Given the description of an element on the screen output the (x, y) to click on. 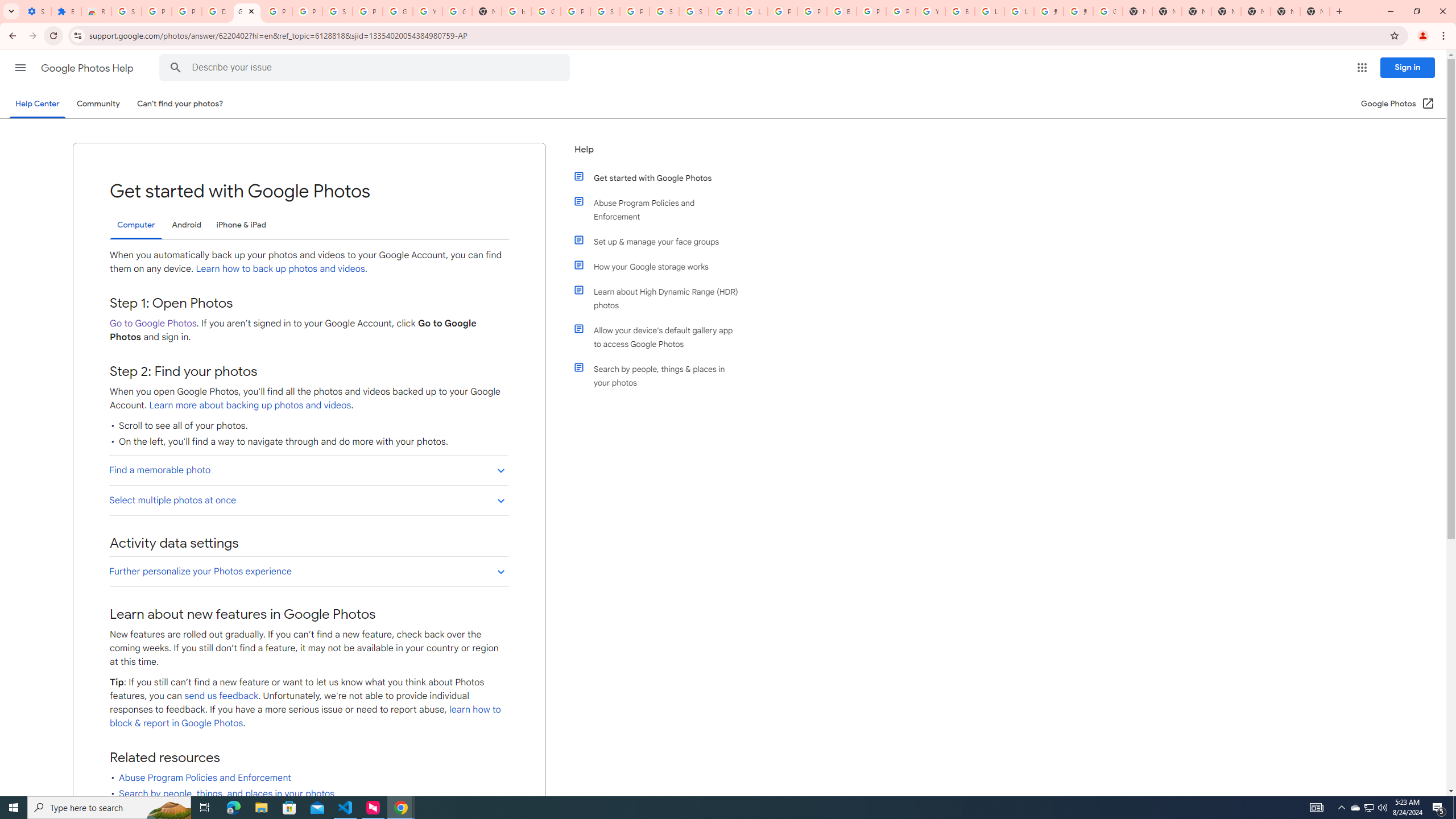
Search by people, things & places in your photos (661, 375)
Privacy Help Center - Policies Help (811, 11)
Computer (136, 225)
Select multiple photos at once (308, 499)
YouTube (930, 11)
Google Photos (Open in a new window) (1397, 103)
New Tab (1314, 11)
